Given the description of an element on the screen output the (x, y) to click on. 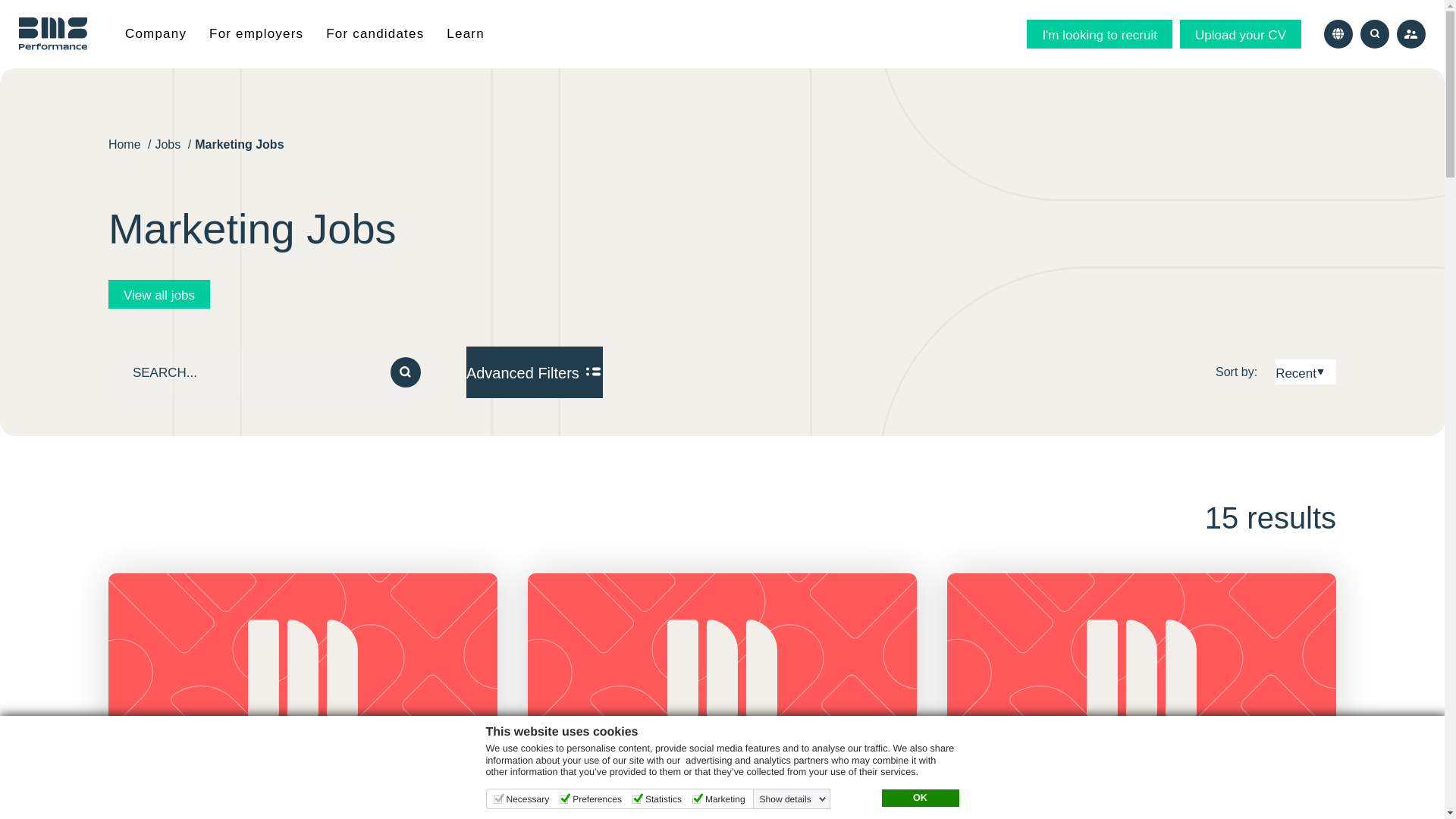
Show details (793, 799)
OK (919, 798)
